Given the description of an element on the screen output the (x, y) to click on. 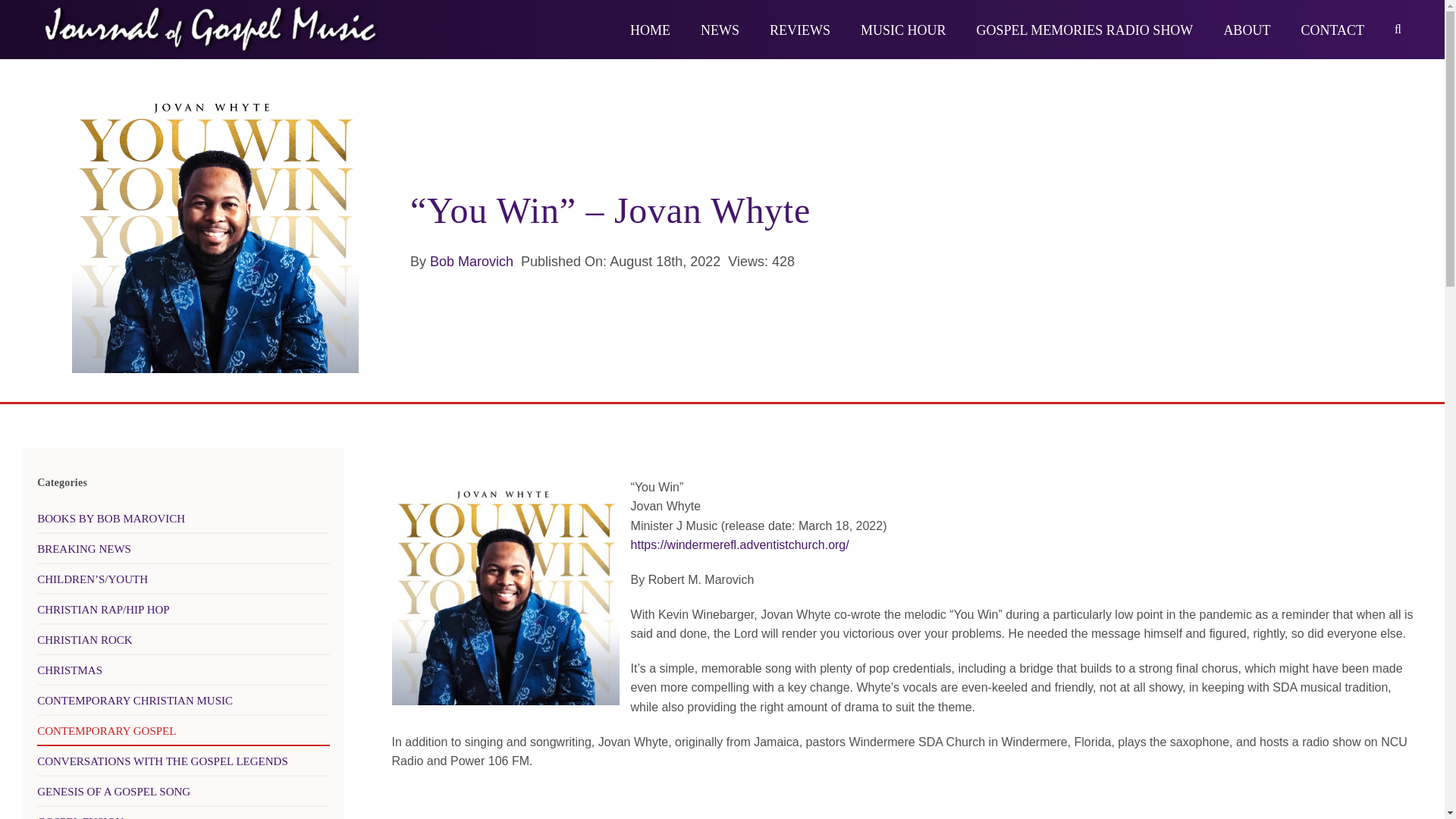
GOSPEL MEMORIES RADIO SHOW (1084, 29)
You Win Cover Large (214, 229)
REVIEWS (799, 29)
CONTACT (1332, 29)
Posts by Bob Marovich (471, 261)
Bob Marovich (471, 261)
MUSIC HOUR (903, 29)
